Given the description of an element on the screen output the (x, y) to click on. 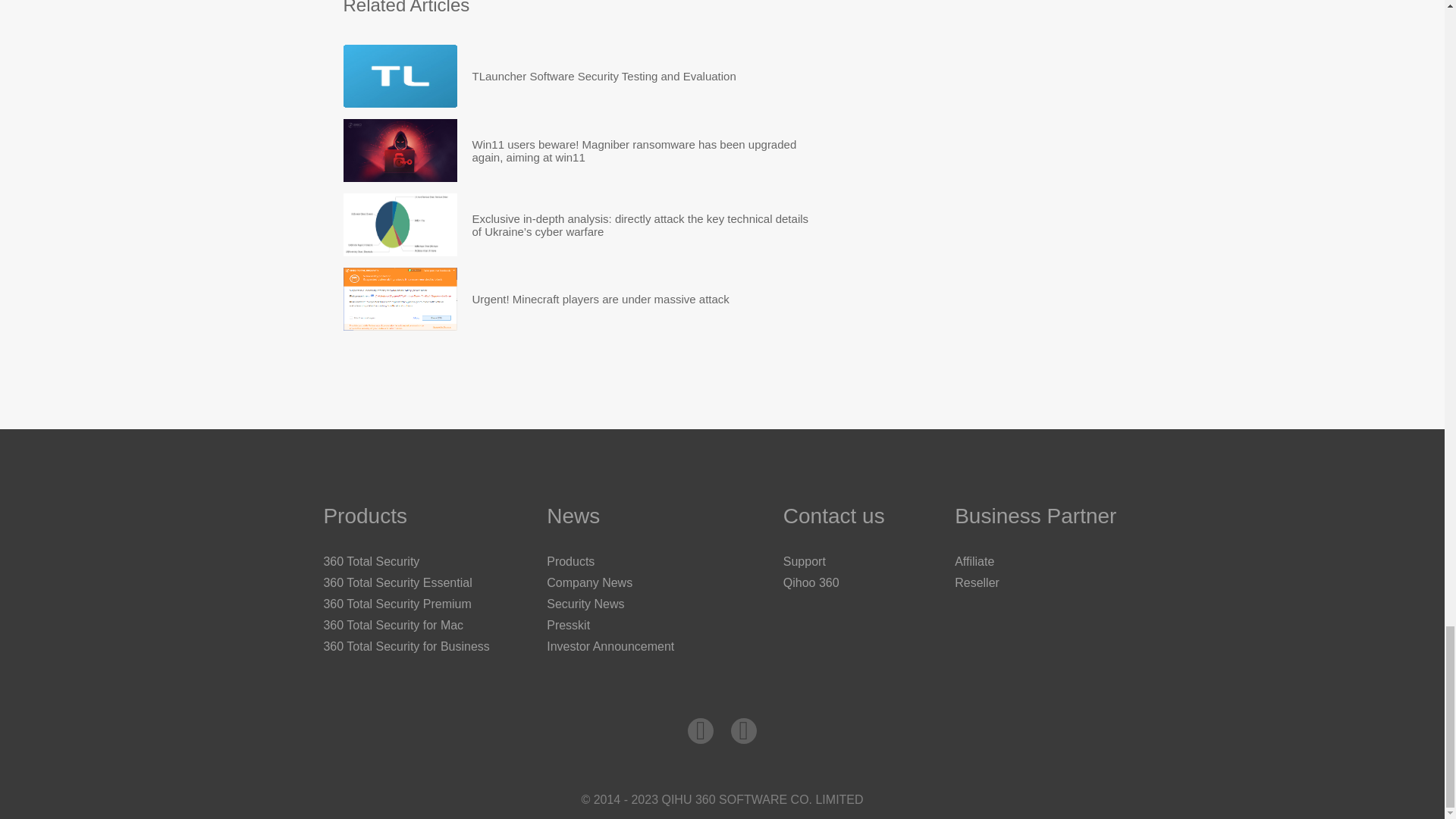
Urgent! Minecraft players are under massive attack (399, 298)
TLauncher Software Security Testing and Evaluation (603, 76)
TLauncher Software Security Testing and Evaluation (399, 76)
360 Total Security (371, 561)
Urgent! Minecraft players are under massive attack (600, 298)
Urgent! Minecraft players are under massive attack (600, 298)
TLauncher Software Security Testing and Evaluation (603, 76)
